Given the description of an element on the screen output the (x, y) to click on. 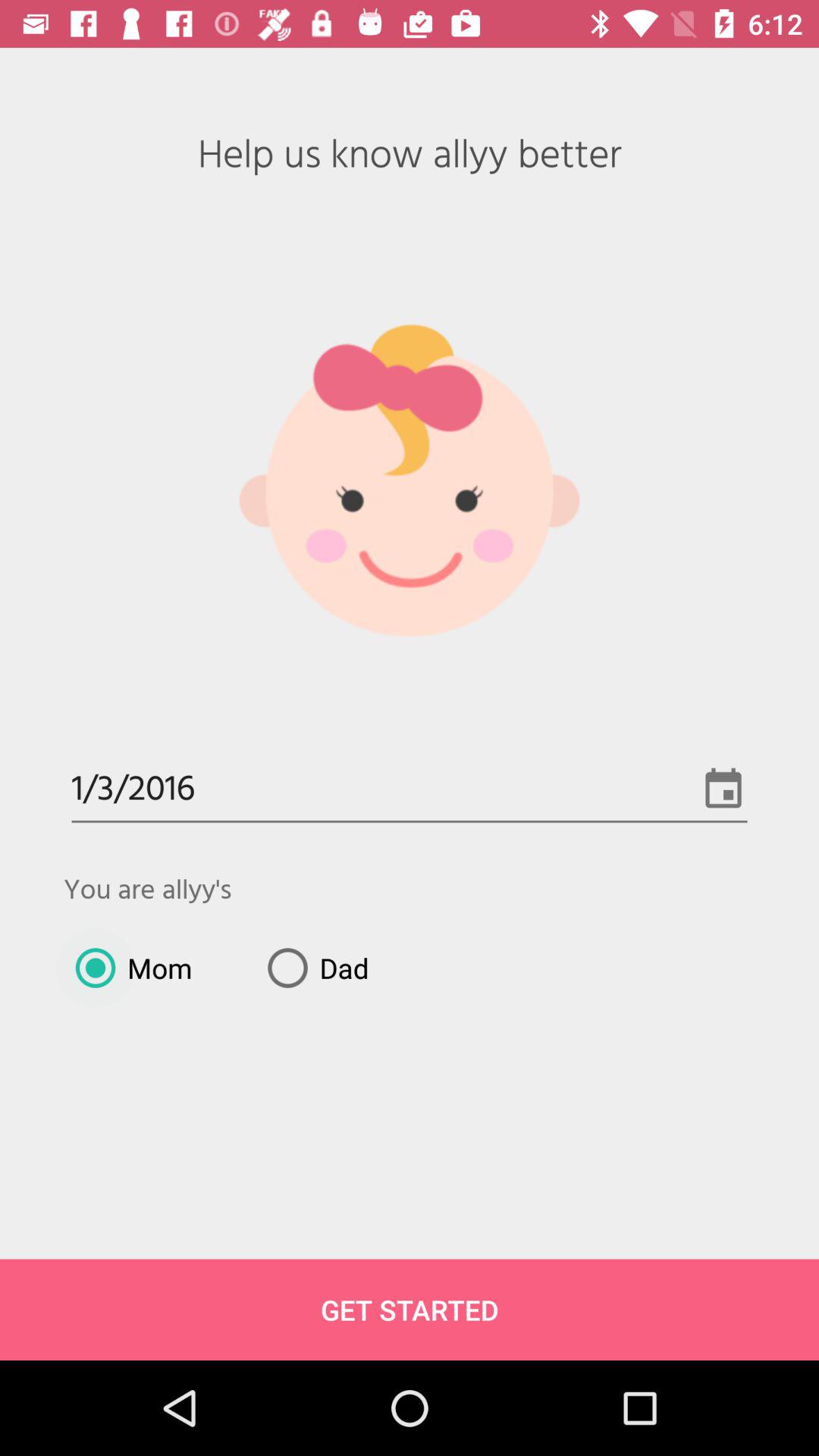
turn off the icon on the left (127, 967)
